Given the description of an element on the screen output the (x, y) to click on. 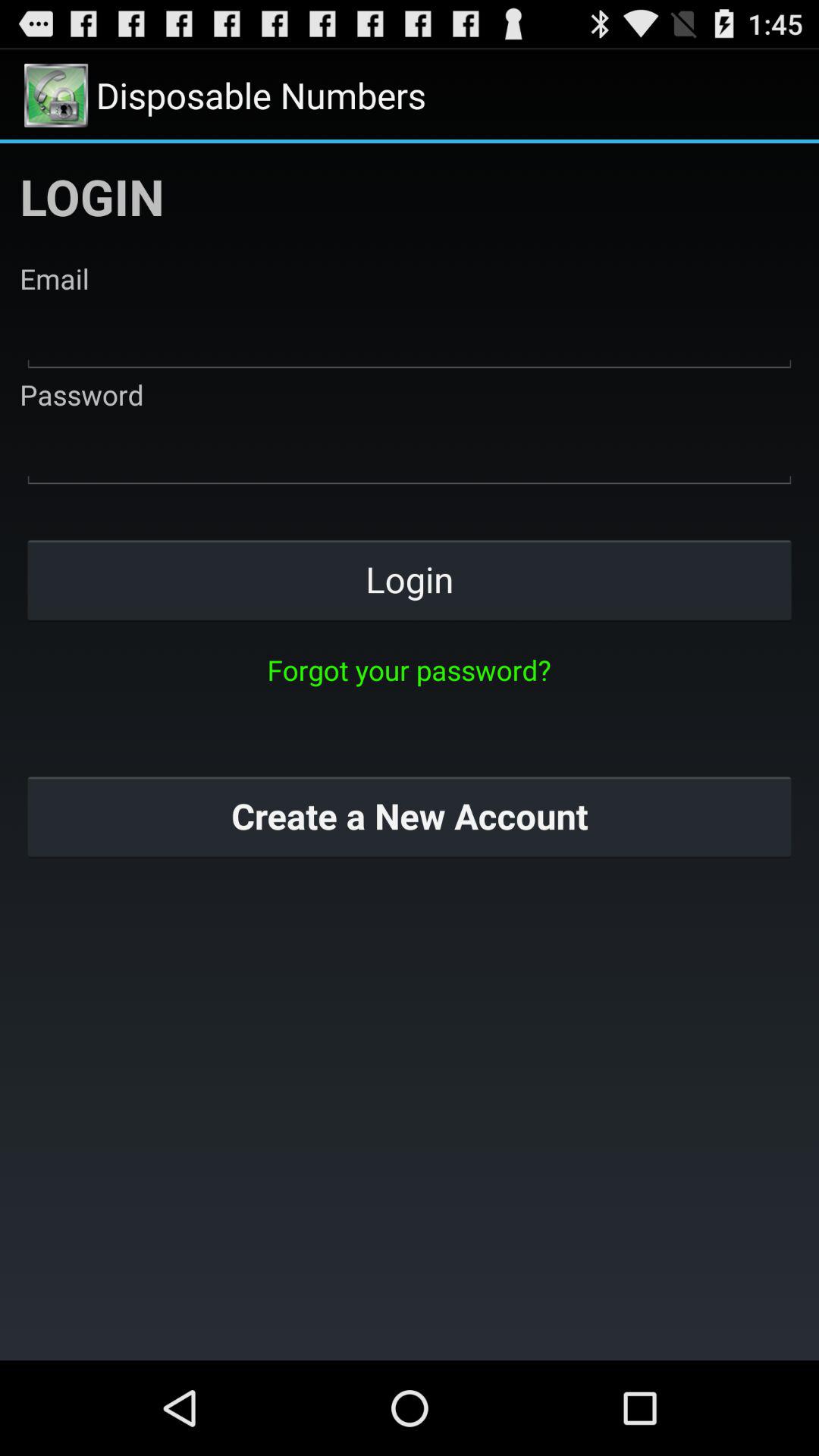
turn on forgot your password? icon (409, 669)
